Given the description of an element on the screen output the (x, y) to click on. 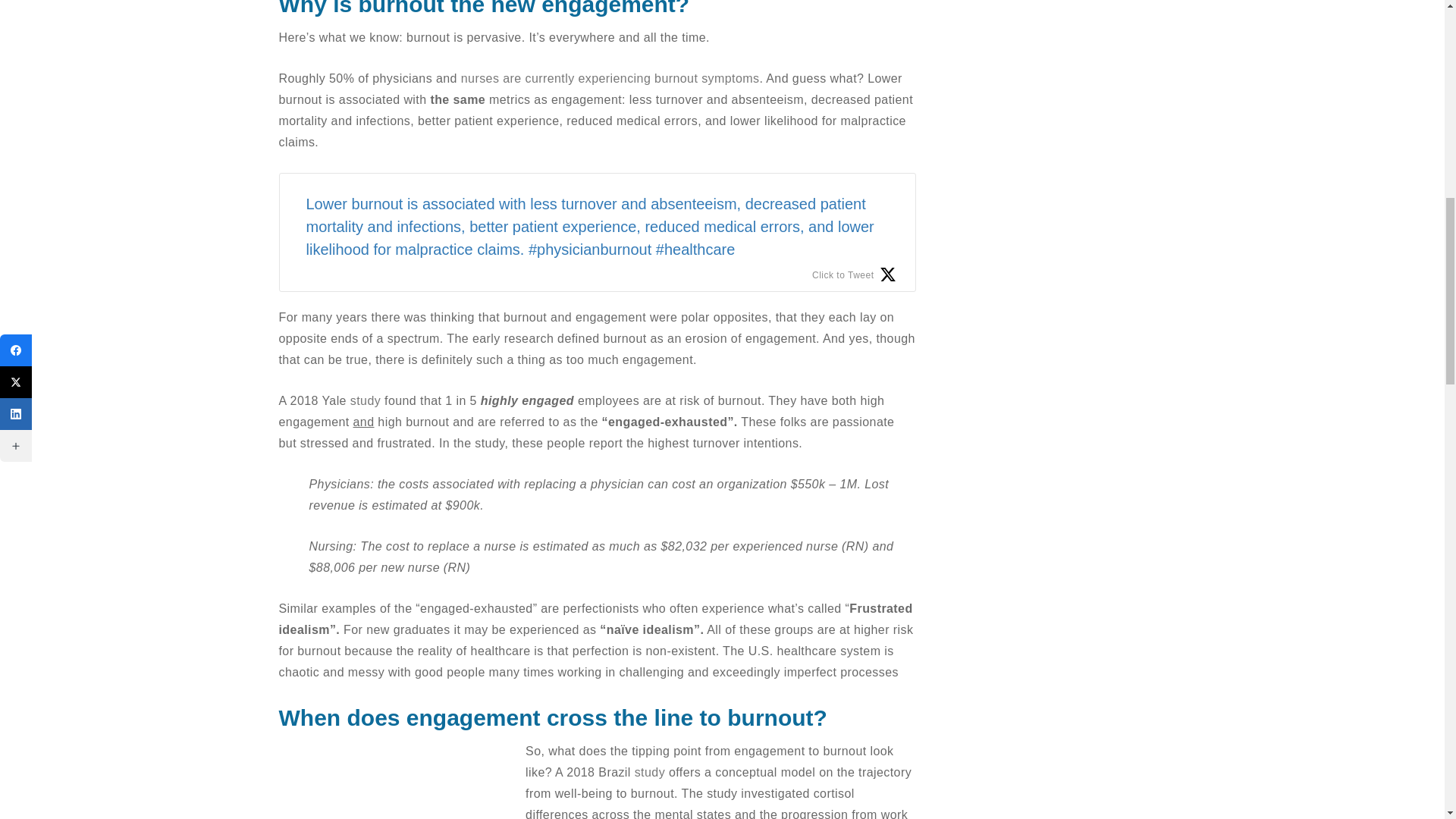
Click to Tweet (853, 274)
nurses are currently experiencing burnout symptoms (610, 78)
study (649, 771)
study (365, 400)
